Given the description of an element on the screen output the (x, y) to click on. 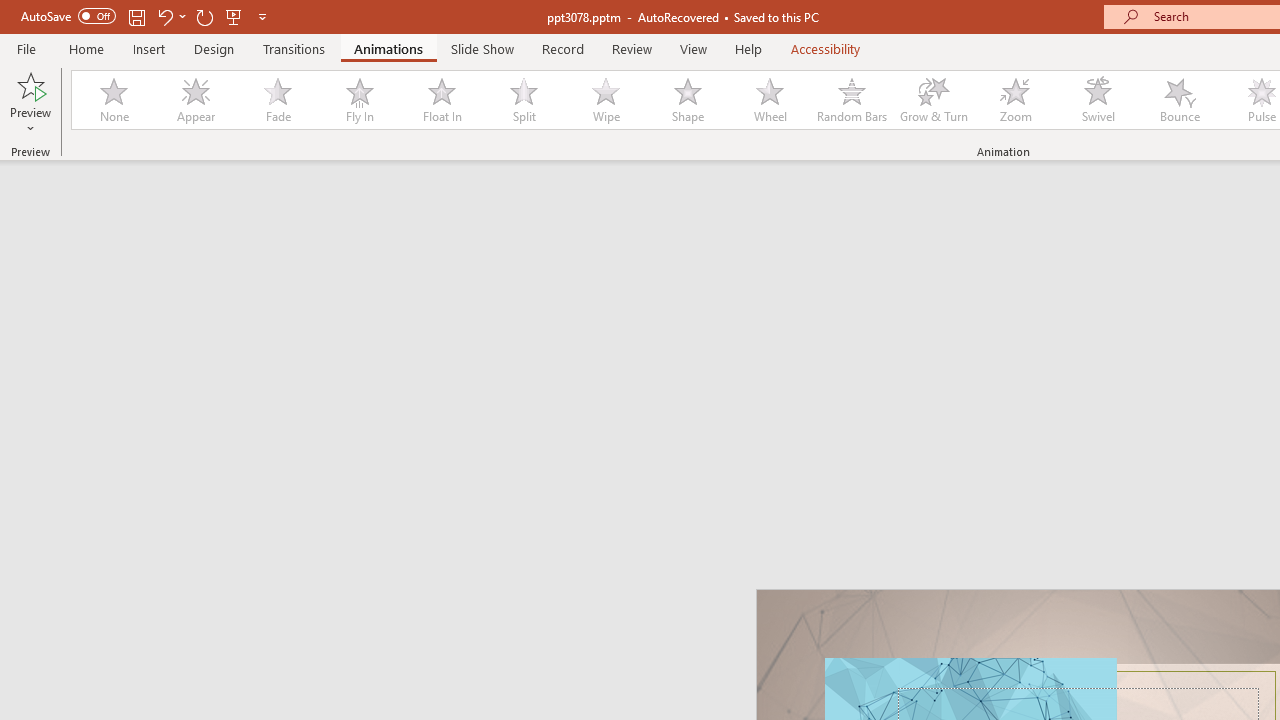
Swivel (1098, 100)
Wheel (770, 100)
None (113, 100)
Shape (687, 100)
Wipe (605, 100)
